Given the description of an element on the screen output the (x, y) to click on. 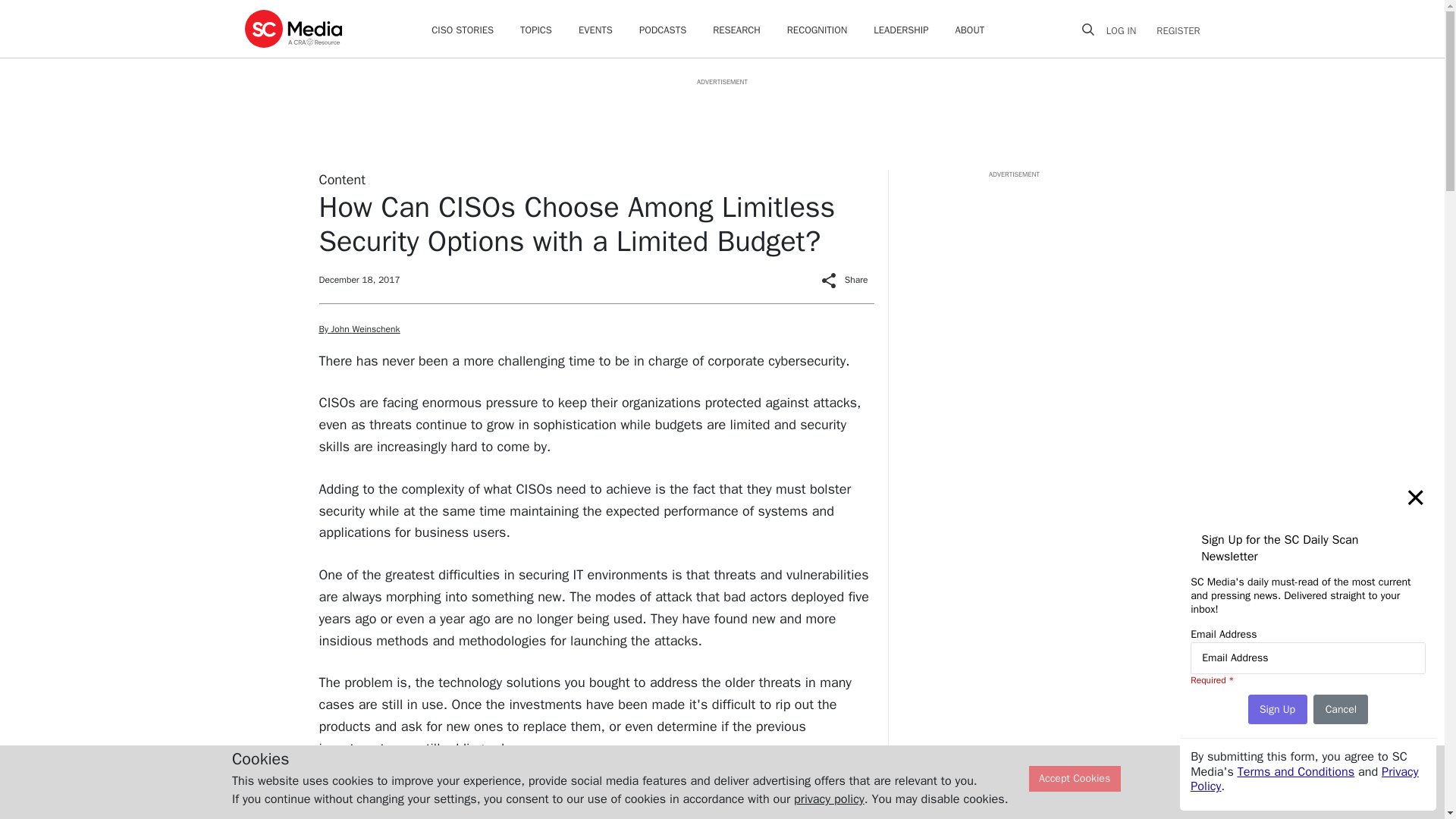
3rd party ad content (721, 121)
Content (341, 179)
RESEARCH (736, 30)
LEADERSHIP (900, 30)
EVENTS (595, 30)
REGISTER (1173, 30)
CISO STORIES (461, 30)
TOPICS (535, 30)
ABOUT (970, 30)
LOG IN (1126, 30)
PODCASTS (662, 30)
RECOGNITION (817, 30)
SC Media (292, 27)
By John Weinschenk (358, 328)
